Given the description of an element on the screen output the (x, y) to click on. 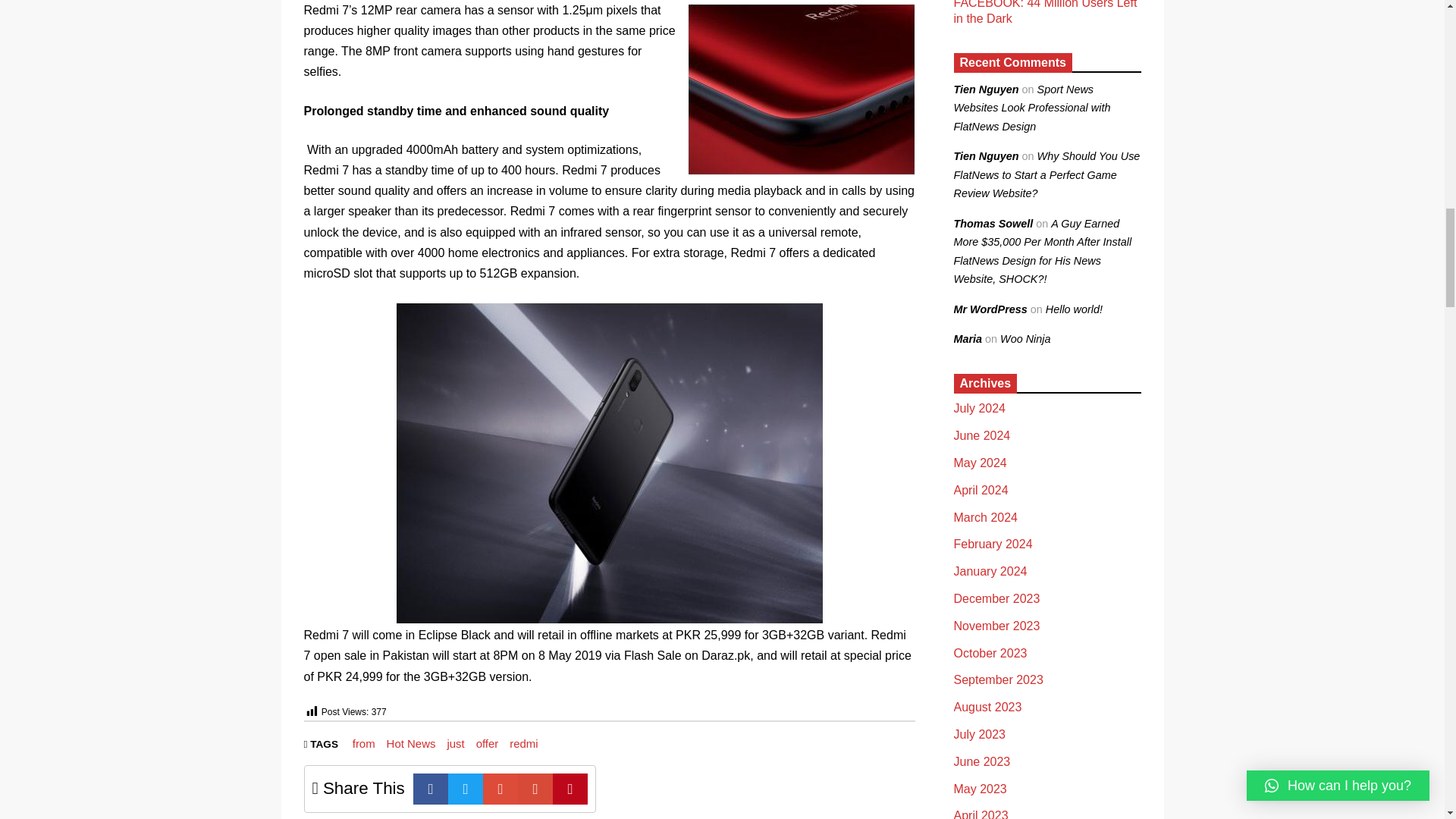
Twitter (465, 788)
Facebook (430, 788)
Google-plus (500, 788)
